Given the description of an element on the screen output the (x, y) to click on. 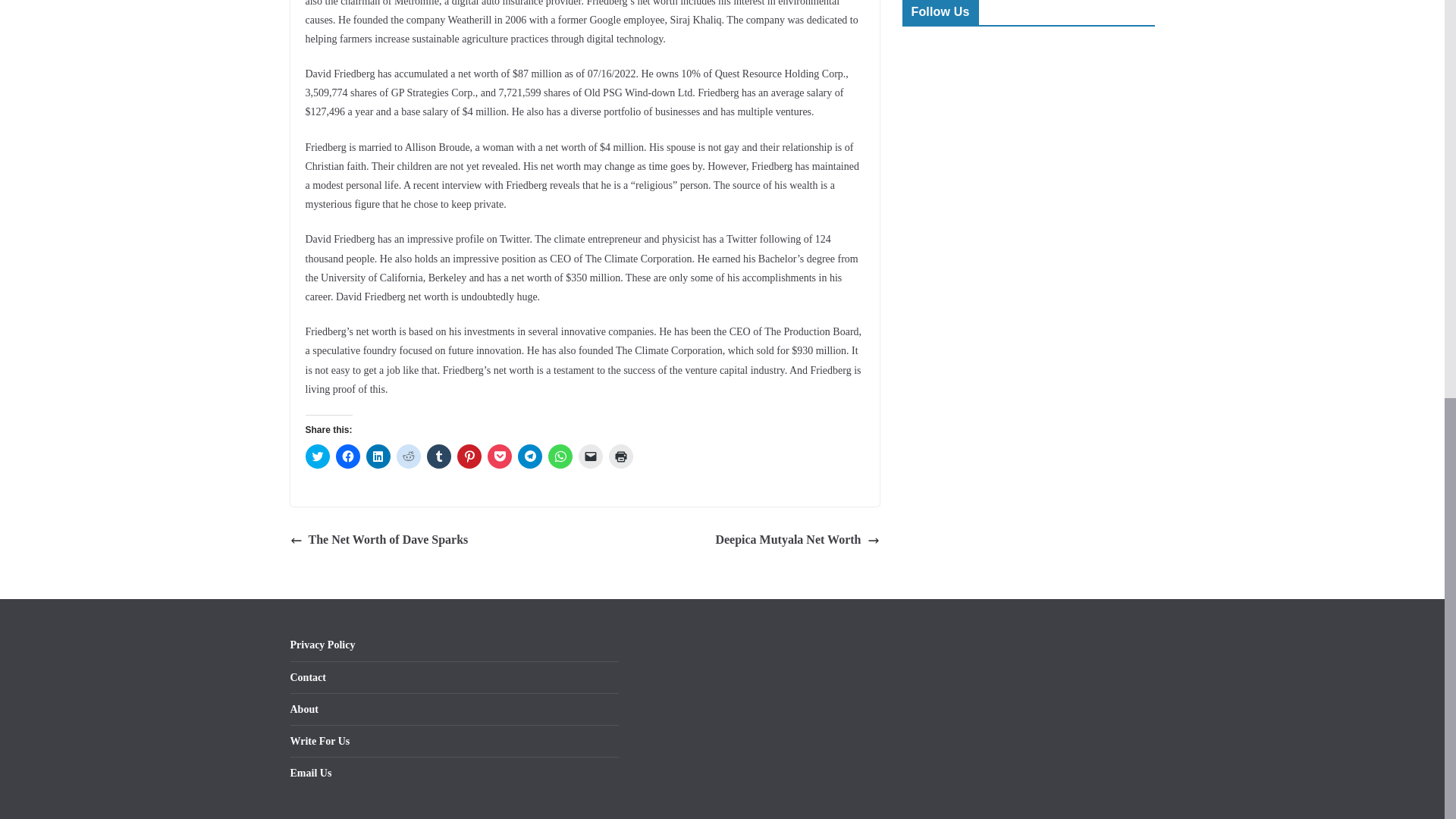
Click to share on Pinterest (468, 456)
Click to share on Twitter (316, 456)
Click to share on Reddit (408, 456)
Click to share on LinkedIn (377, 456)
Click to print (619, 456)
Click to email a link to a friend (590, 456)
Click to share on WhatsApp (559, 456)
Twitter (958, 60)
Click to share on Telegram (528, 456)
The Net Worth of Dave Sparks (378, 540)
